Given the description of an element on the screen output the (x, y) to click on. 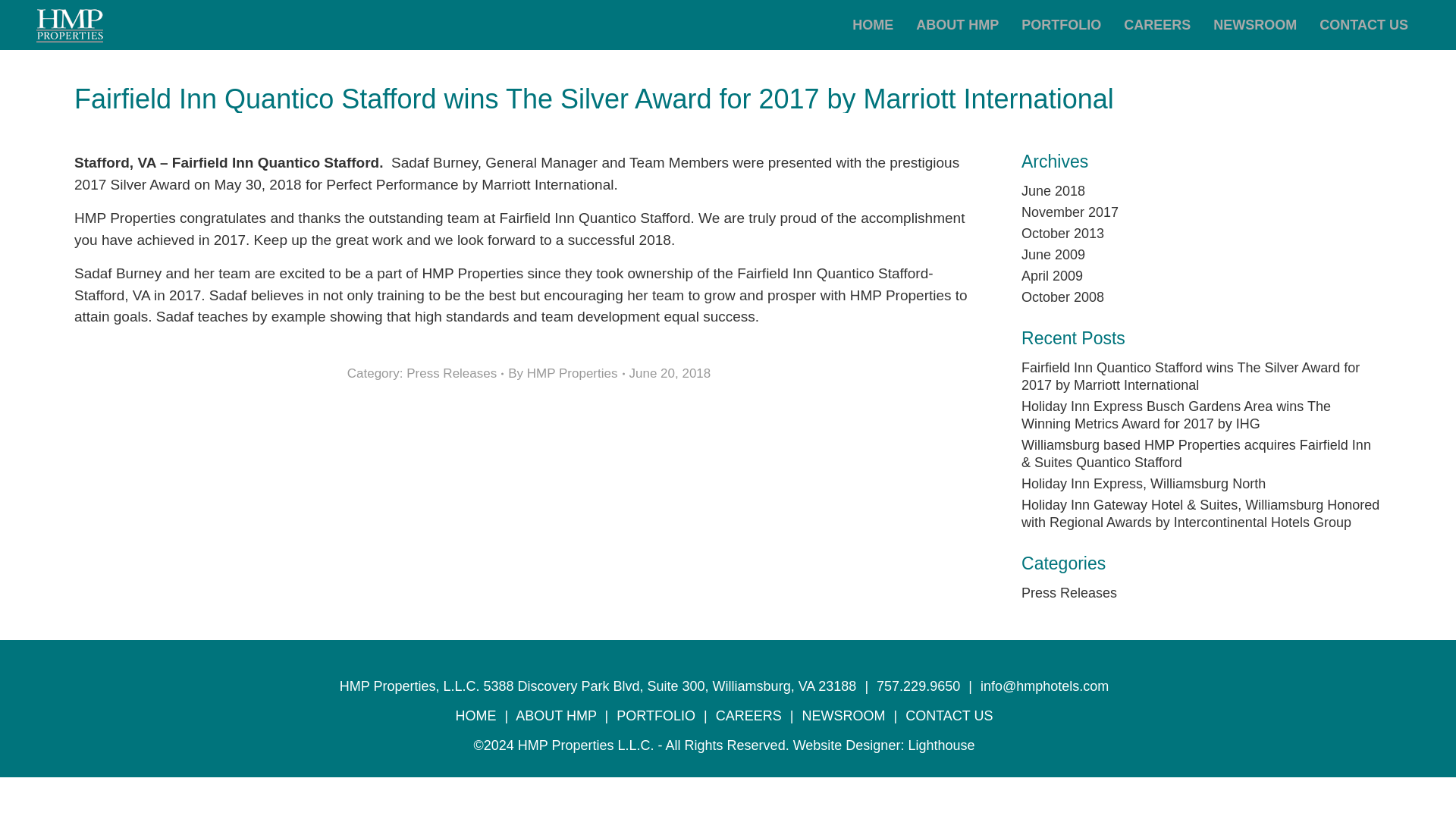
By HMP Properties (566, 372)
CONTACT US (1363, 24)
June 20, 2018 (669, 372)
View all posts by HMP Properties (566, 372)
ABOUT HMP (957, 24)
June 2018 (1053, 190)
Press Releases (451, 372)
12:30 pm (669, 372)
CAREERS (1157, 24)
NEWSROOM (1254, 24)
